Given the description of an element on the screen output the (x, y) to click on. 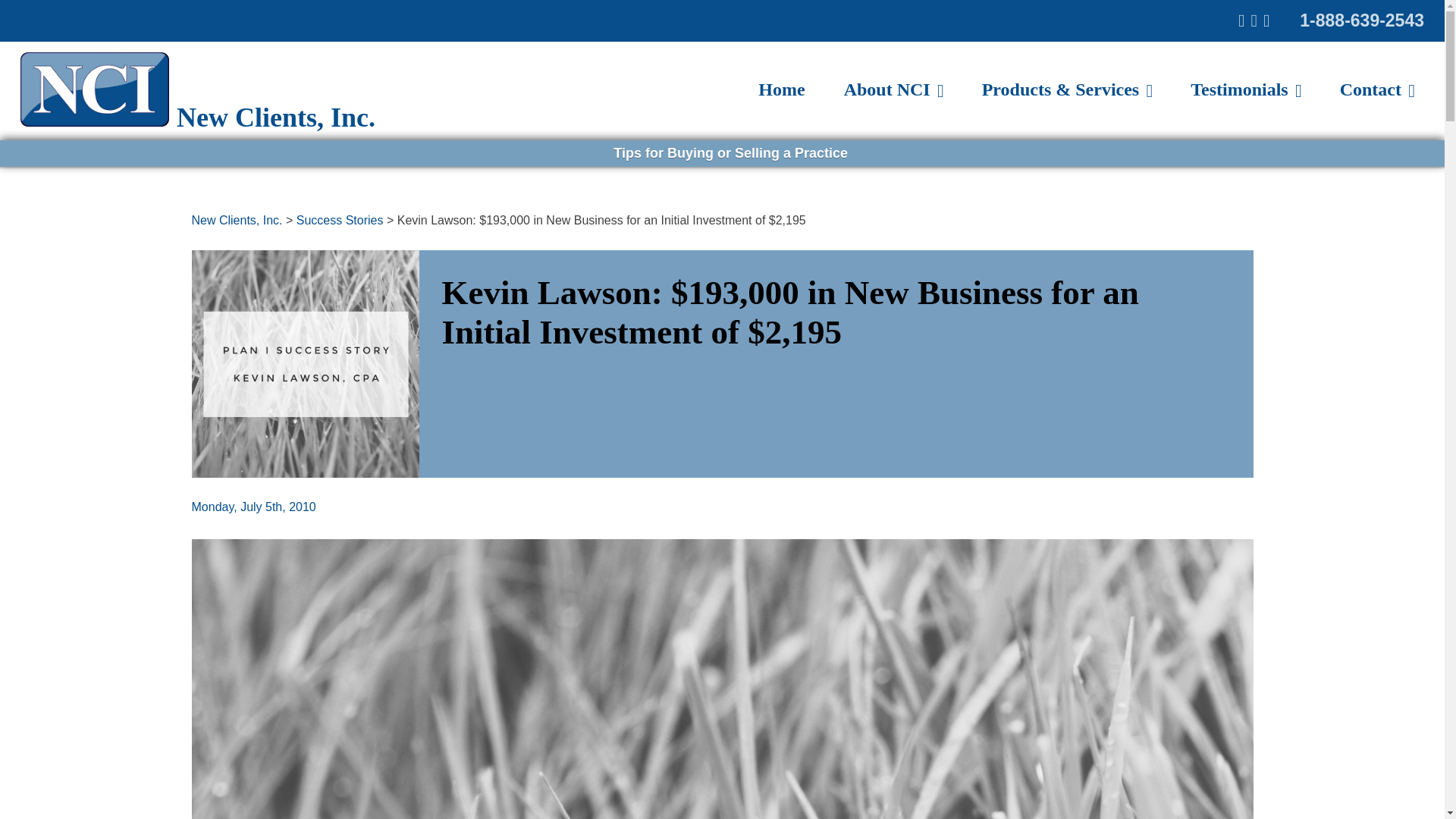
New Clients, Inc. (123, 68)
Testimonials (1245, 89)
Contact (1376, 89)
New Clients, Inc. (236, 219)
Home (780, 89)
Tips for Buying or Selling a Practice (725, 152)
1-888-639-2543 (1361, 20)
About NCI (893, 89)
Success Stories (340, 219)
